Given the description of an element on the screen output the (x, y) to click on. 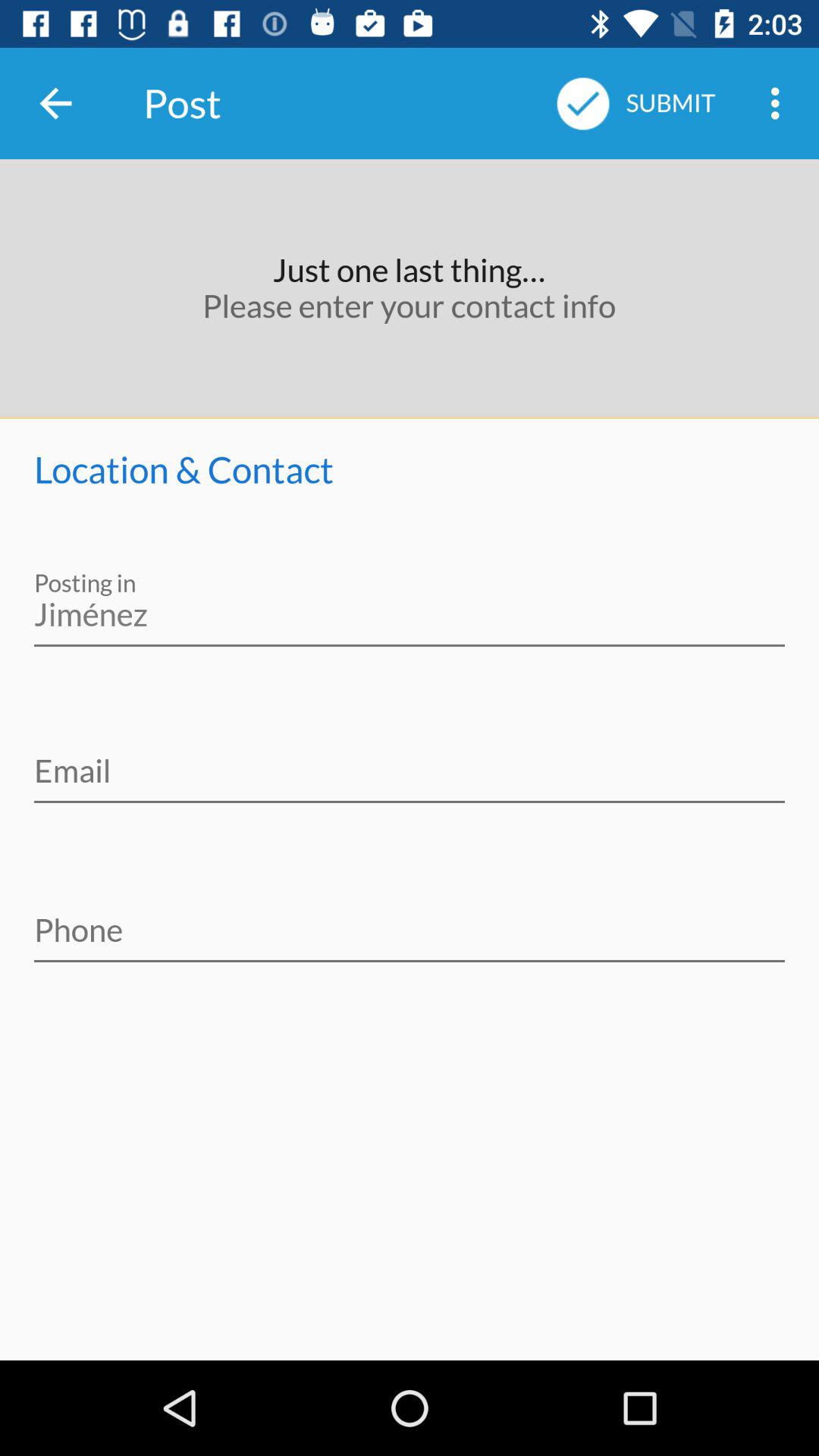
click item next to the submit (779, 103)
